Given the description of an element on the screen output the (x, y) to click on. 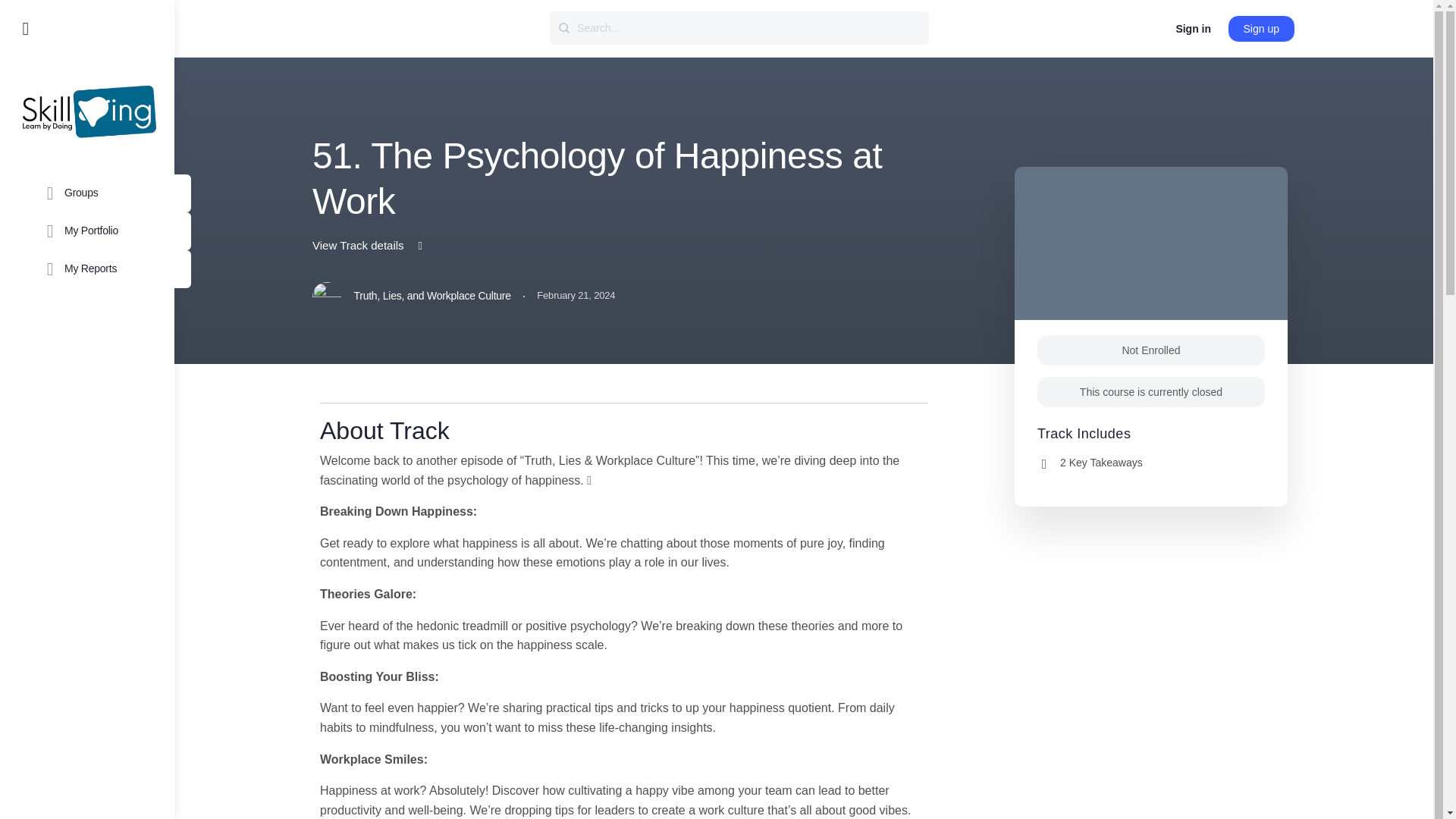
Sign up (1261, 28)
My Reports (111, 269)
Truth, Lies, and Workplace Culture (412, 296)
My Portfolio (111, 231)
Sign in (1193, 28)
View Track details (369, 245)
Groups (111, 193)
